Given the description of an element on the screen output the (x, y) to click on. 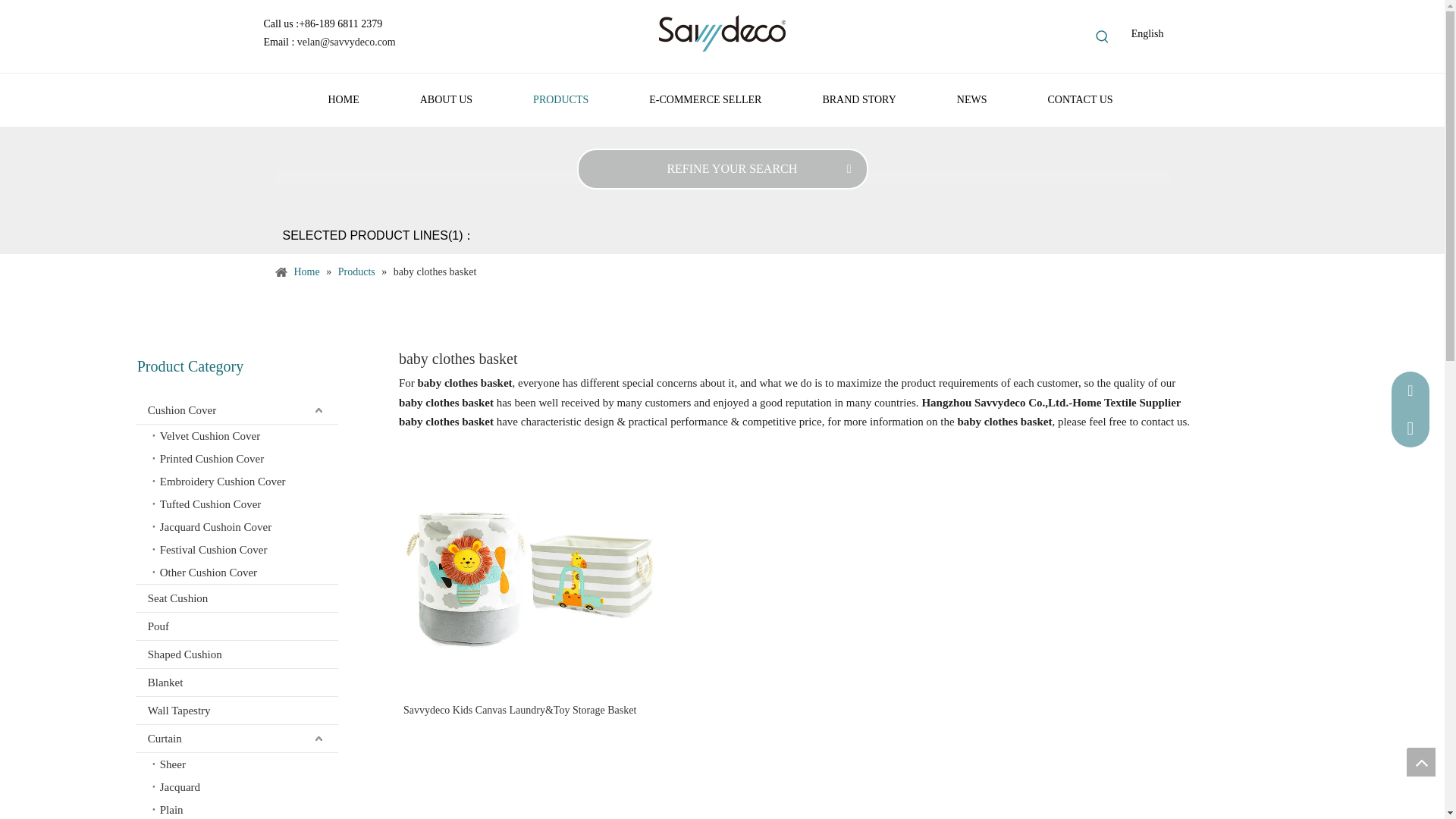
Embroidery Cushion Cover (245, 481)
Printed Cushion Cover (245, 458)
Curtain (237, 738)
English (1147, 34)
Tufted Cushion Cover (245, 504)
Plain (245, 808)
Velvet Cushion Cover (245, 436)
Jacquard (245, 786)
Jacquard Cushoin Cover (245, 526)
Pouf (237, 625)
